Given the description of an element on the screen output the (x, y) to click on. 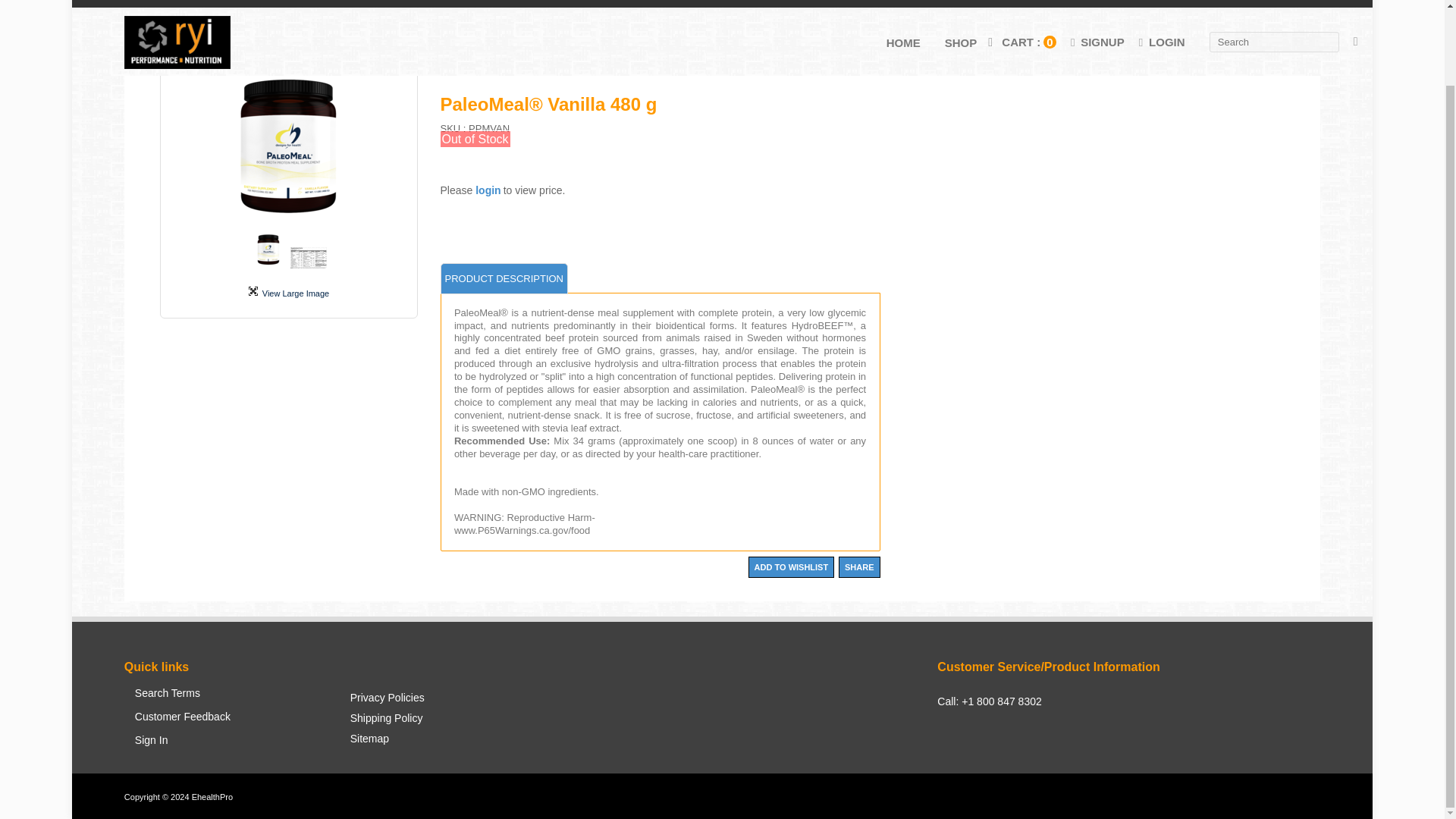
Sign In (182, 746)
login (489, 190)
Next (387, 150)
Search Terms (182, 699)
Customer Feedback (182, 722)
Youtube (1016, 764)
SHARE (859, 567)
Products (178, 28)
Privacy Policies (387, 702)
Blogger (1039, 764)
